Given the description of an element on the screen output the (x, y) to click on. 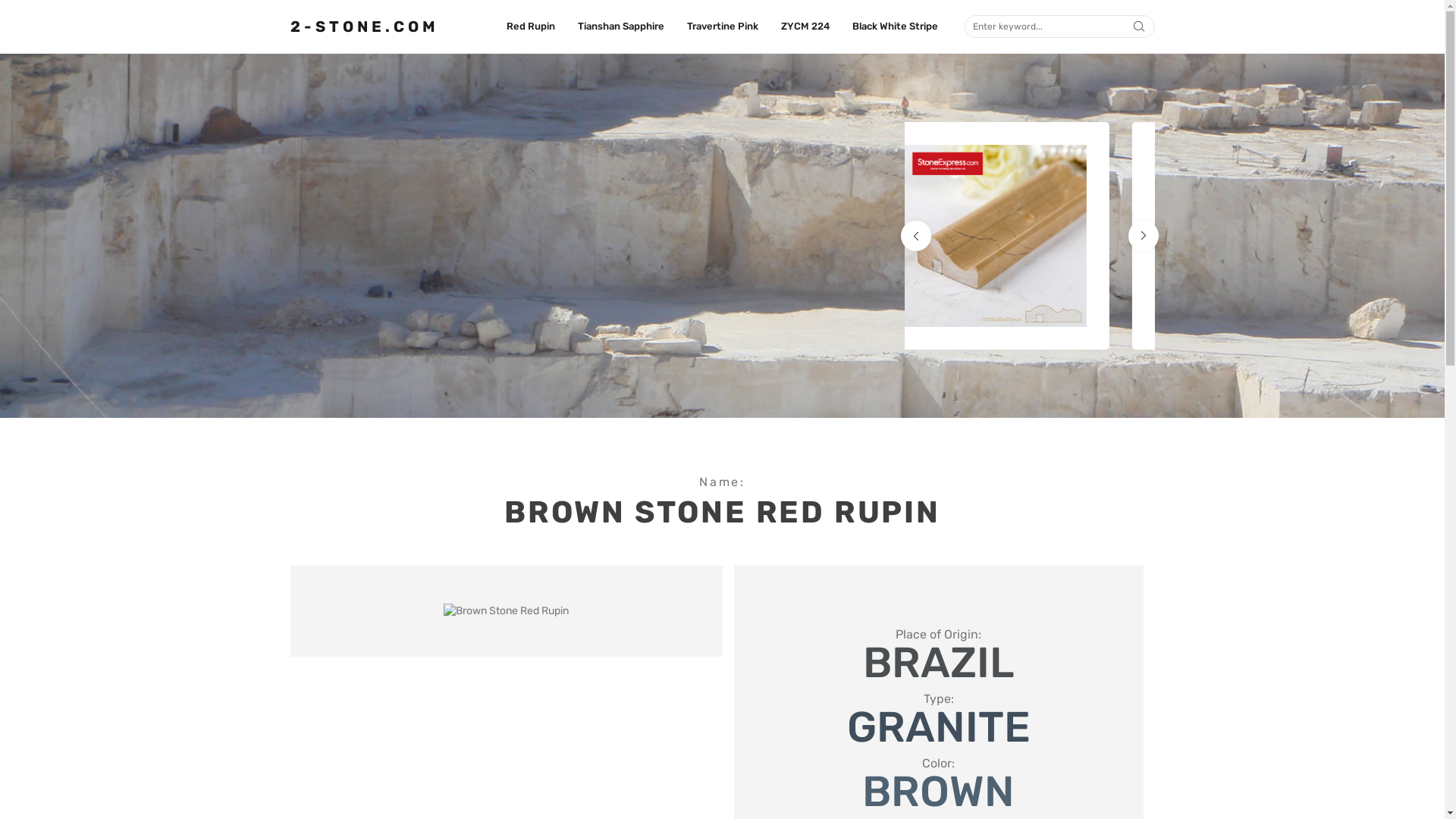
BROWN Element type: text (938, 791)
GRANITE Element type: text (937, 727)
2-STONE.COM Element type: text (363, 26)
Tianshan Sapphire Element type: text (620, 26)
Brown Stone Red Rupin Element type: hover (505, 610)
ZYCM 224 Element type: text (805, 26)
Red Rupin Element type: text (530, 26)
BRAZIL Element type: text (937, 662)
Travertine Pink Element type: text (722, 26)
Black White Stripe Element type: text (895, 26)
